Given the description of an element on the screen output the (x, y) to click on. 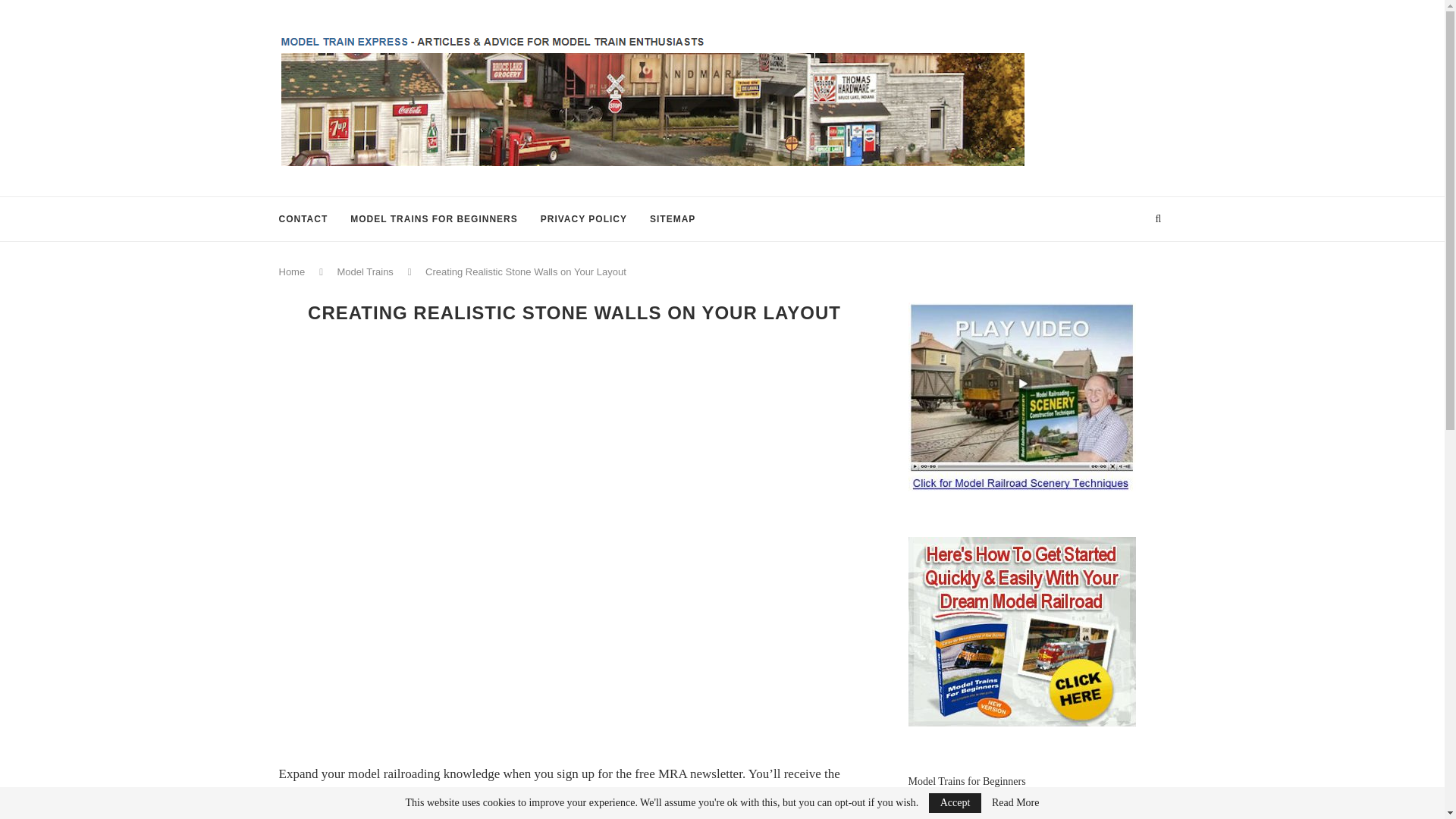
Model Trains for Beginners (967, 781)
Home (292, 271)
PRIVACY POLICY (583, 218)
CONTACT (304, 218)
MODEL TRAINS FOR BEGINNERS (433, 218)
Model Trains (364, 271)
Basic model railroader tool set (973, 816)
SITEMAP (672, 218)
